Given the description of an element on the screen output the (x, y) to click on. 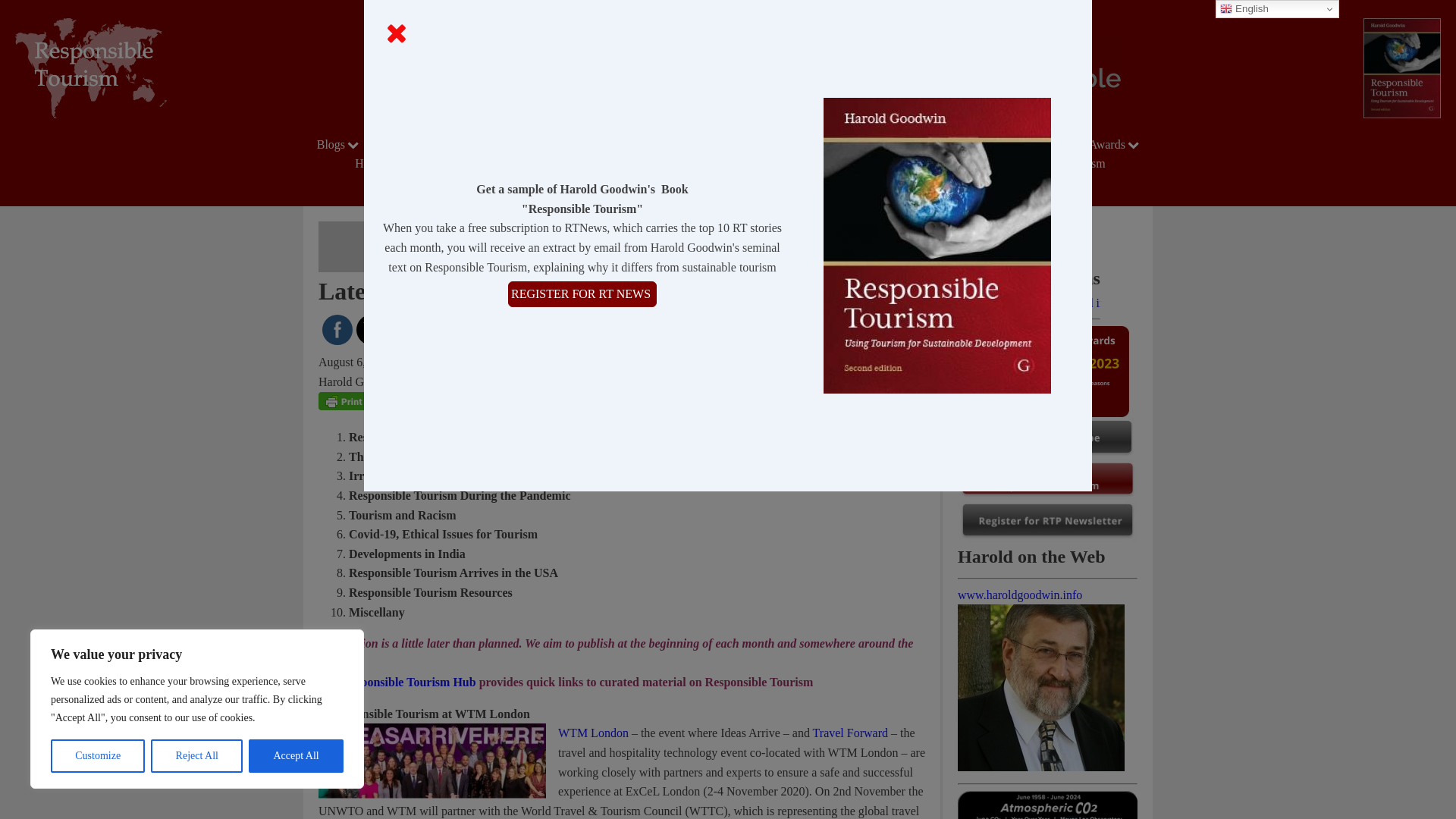
About Us (550, 144)
Accept All (295, 756)
YouTube (439, 329)
Twitter (371, 330)
Customize (97, 756)
Facebook (337, 329)
Reject All (197, 756)
Click for more CO2 Earth info... (1047, 805)
Harold Goodwin inducted into Global Travel Hall of Fame (1029, 302)
RSS (473, 329)
Follow by Email (405, 329)
Blogs (340, 144)
Platform for Change (440, 144)
OverTourism (927, 144)
What is RT? (829, 144)
